Given the description of an element on the screen output the (x, y) to click on. 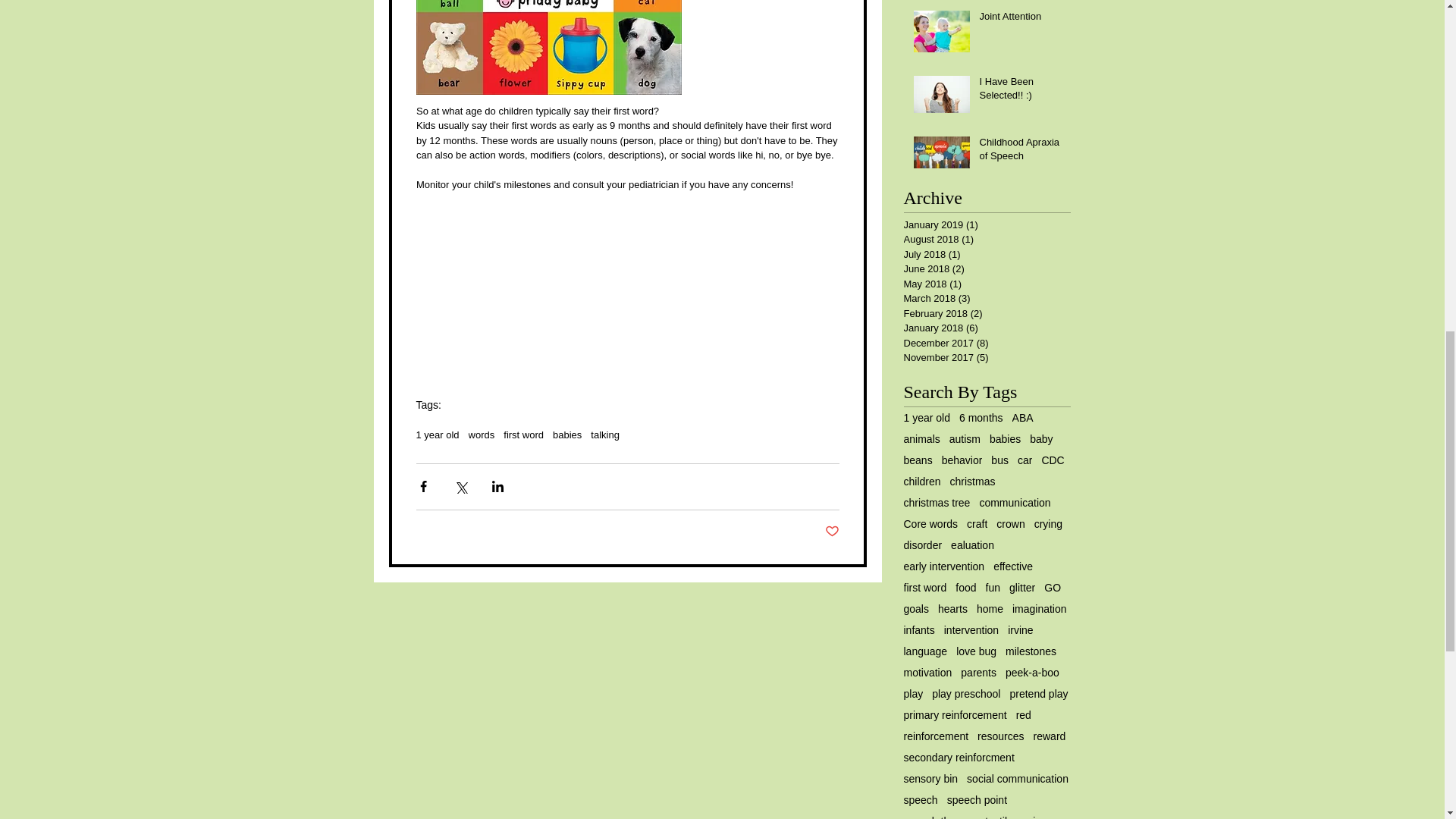
Joint Attention (1020, 19)
babies (566, 434)
autism (964, 439)
babies (1005, 439)
talking (605, 434)
Post not marked as liked (832, 530)
1 year old (927, 417)
words (481, 434)
ABA (1022, 417)
animals (922, 439)
